Given the description of an element on the screen output the (x, y) to click on. 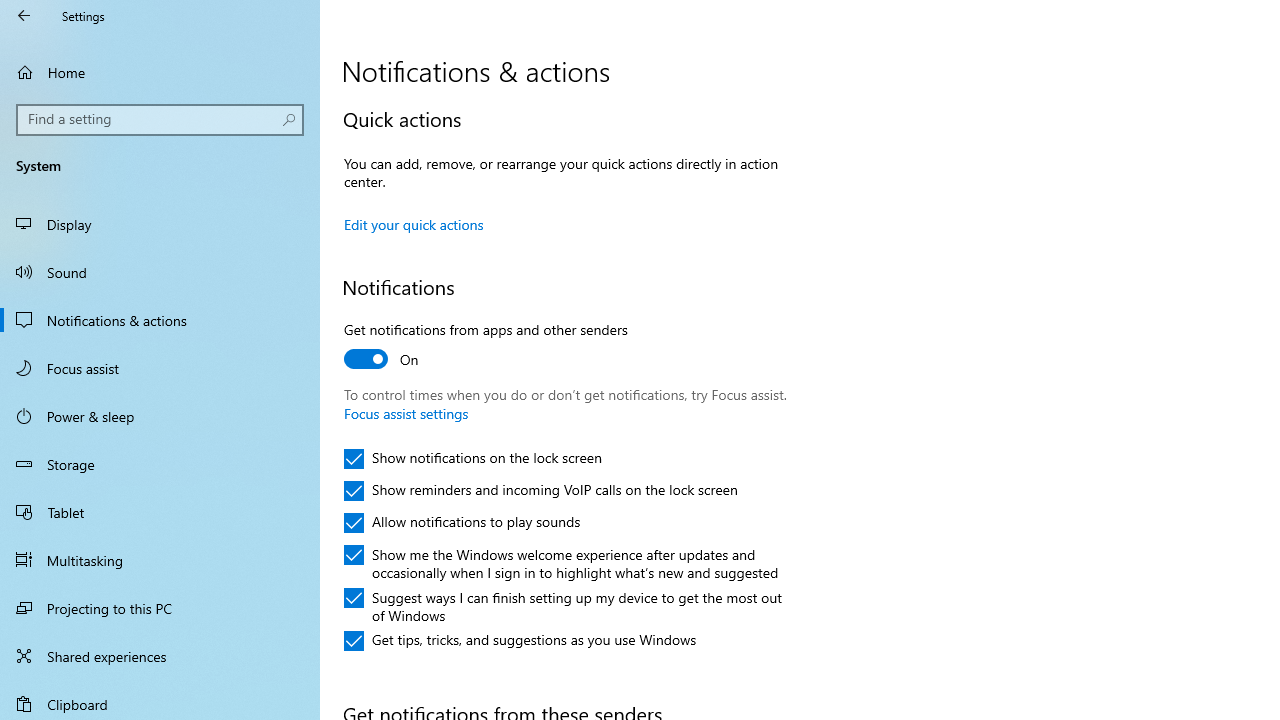
Power & sleep (160, 415)
Get tips, tricks, and suggestions as you use Windows (520, 640)
Storage (160, 463)
Edit your quick actions (413, 224)
Display (160, 223)
Show notifications on the lock screen (473, 458)
Sound (160, 271)
Allow notifications to play sounds (462, 522)
Multitasking (160, 559)
Get notifications from apps and other senders (486, 347)
Focus assist (160, 367)
Search box, Find a setting (160, 119)
Home (160, 71)
Shared experiences (160, 655)
